Given the description of an element on the screen output the (x, y) to click on. 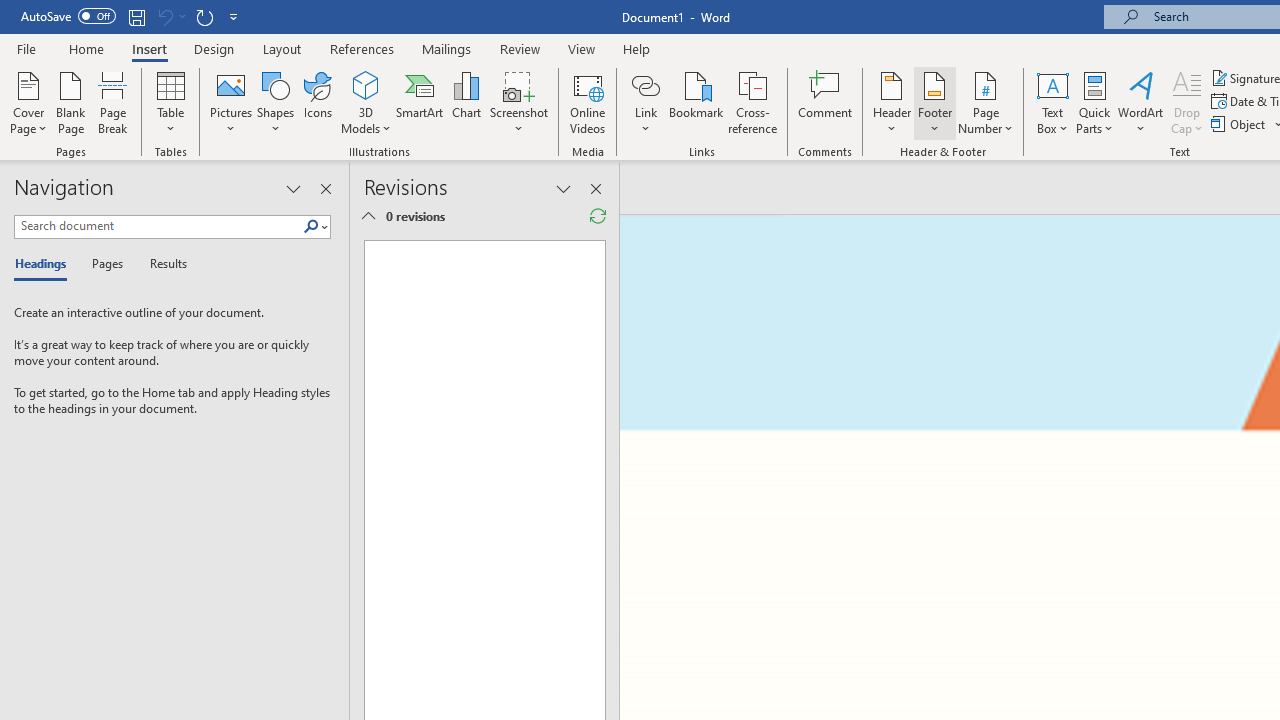
Header (891, 102)
Page Number (986, 102)
Blank Page (70, 102)
Footer (934, 102)
Comment (825, 102)
Quick Parts (1094, 102)
Table (170, 102)
